Given the description of an element on the screen output the (x, y) to click on. 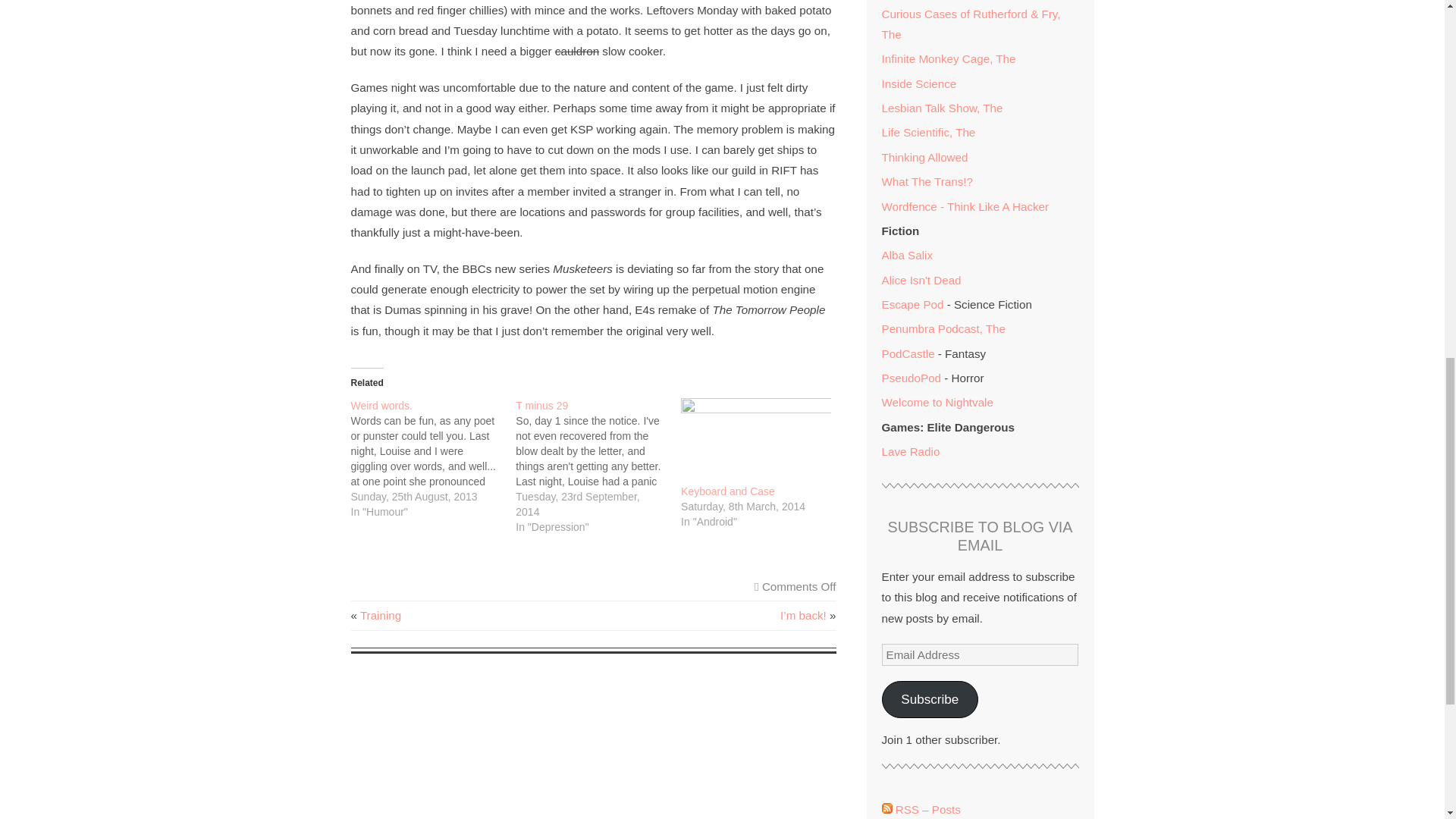
Weird words. (381, 405)
Weird words. (432, 458)
Lesbian Talk Show, The (941, 107)
Keyboard and Case (756, 441)
Inside Science (918, 83)
Keyboard and Case (727, 491)
T minus 29 (598, 466)
Infinite Monkey Cage, The (947, 58)
Keyboard and Case (727, 491)
Life Scientific, The (927, 132)
Subscribe to posts (919, 809)
T minus 29 (541, 405)
Training (380, 615)
Weird words. (381, 405)
T minus 29 (541, 405)
